Given the description of an element on the screen output the (x, y) to click on. 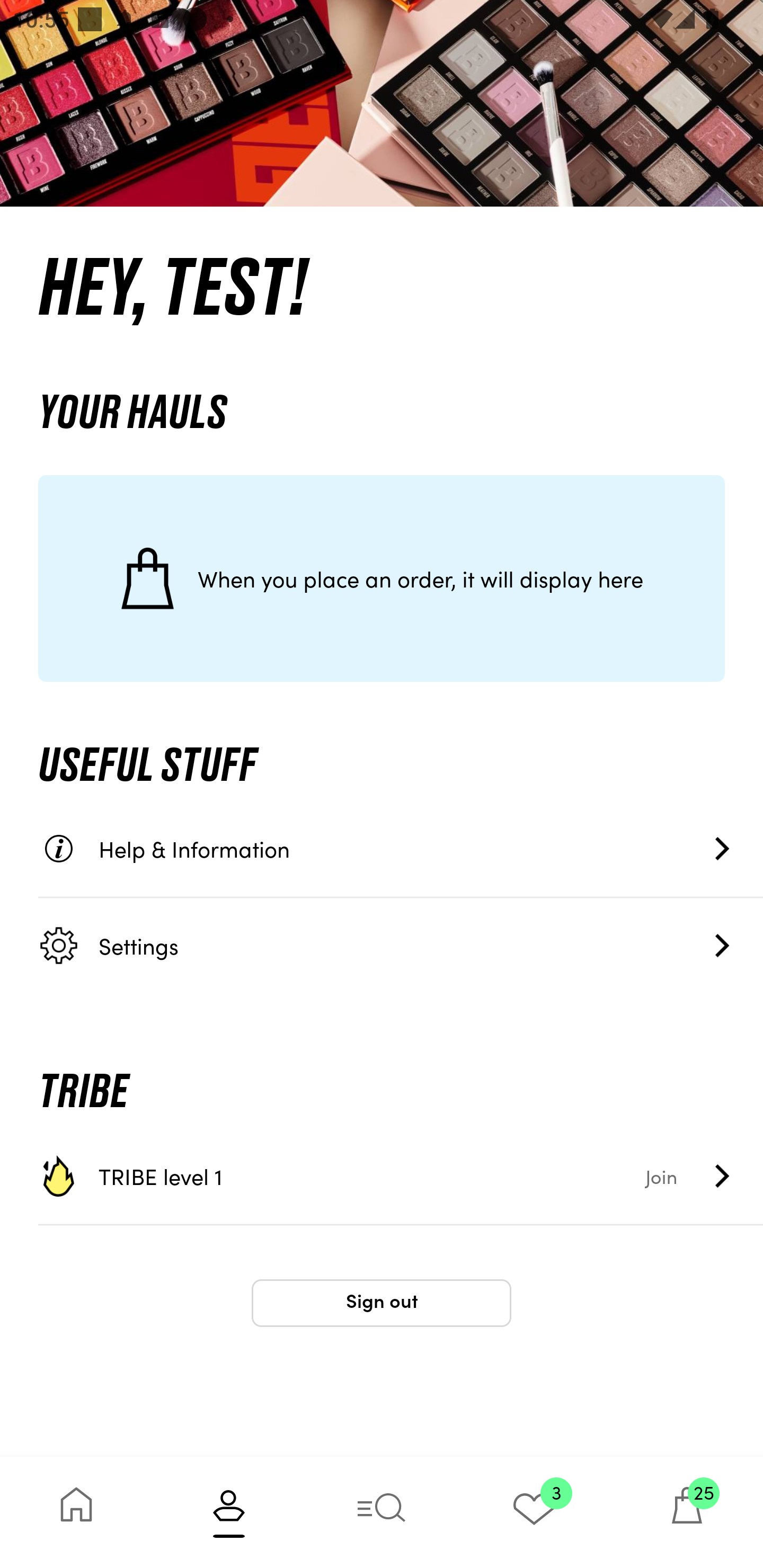
Help & Information (400, 848)
Settings (400, 945)
TRIBE level 1 Join (400, 1175)
Sign out (381, 1302)
3 (533, 1512)
25 (686, 1512)
